Given the description of an element on the screen output the (x, y) to click on. 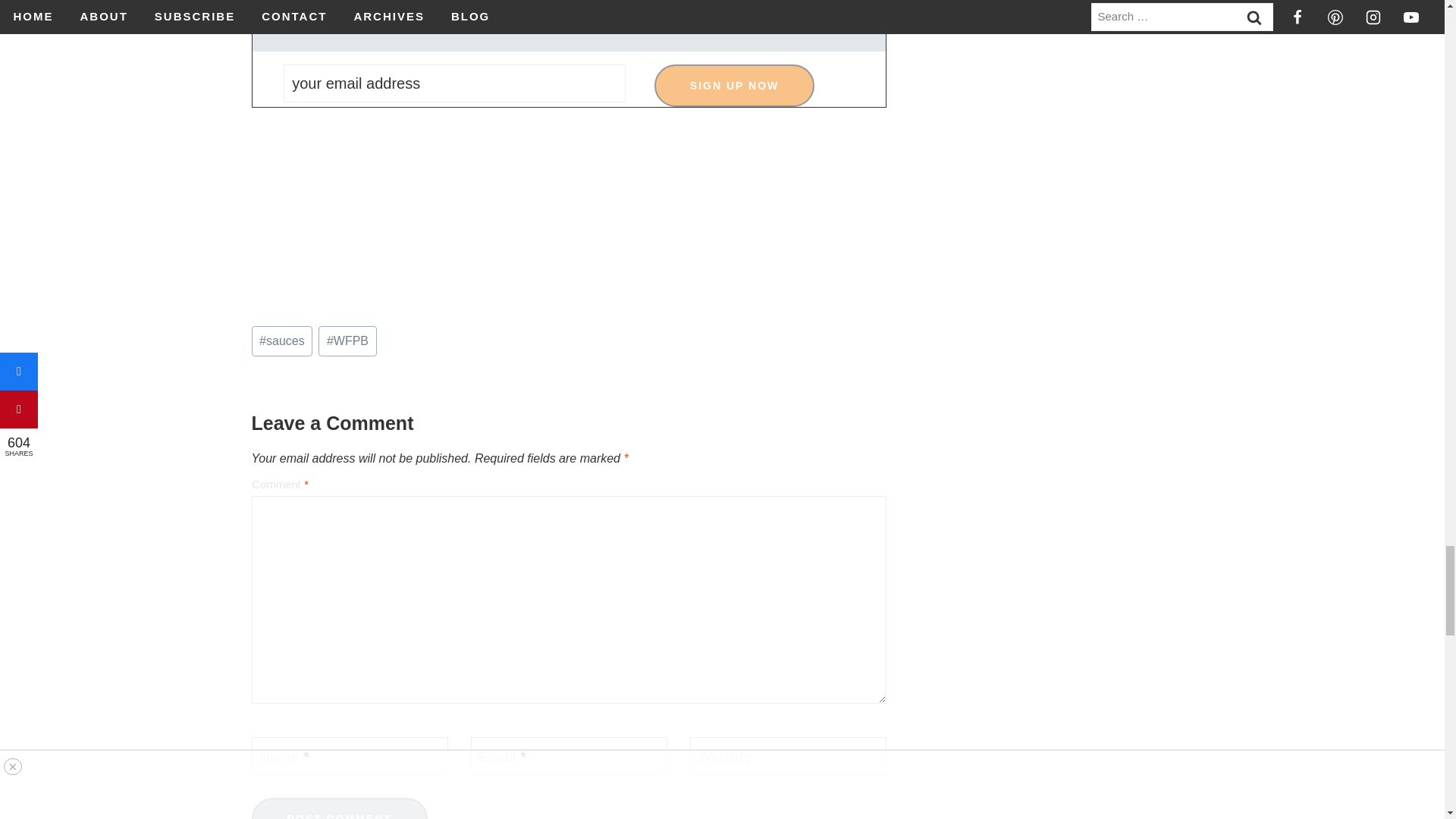
WFPB (346, 340)
sauces (282, 340)
Sign Up Now (733, 85)
Post Comment (339, 808)
